Given the description of an element on the screen output the (x, y) to click on. 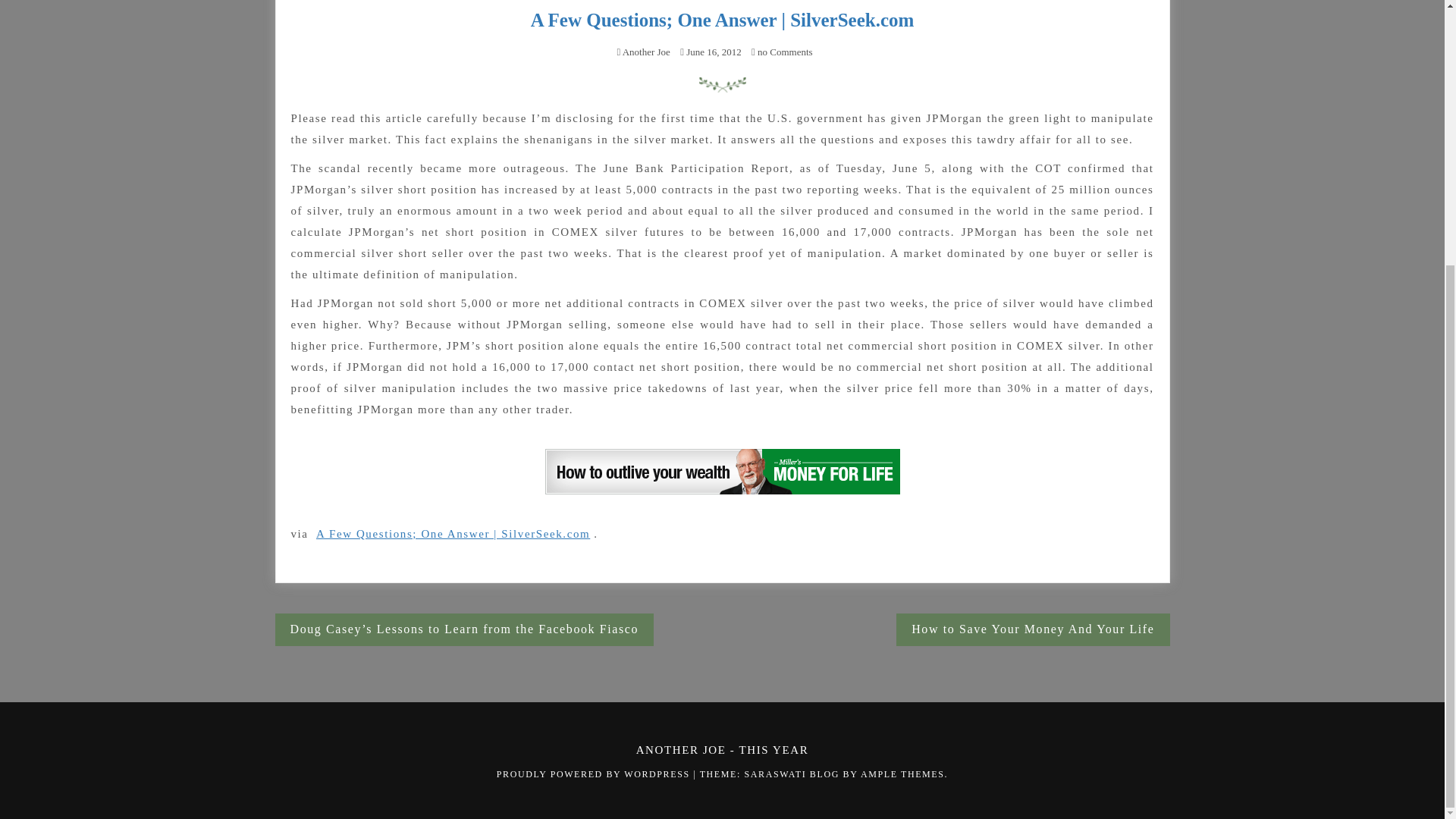
June 16, 2012 (713, 51)
Posts by Another Joe (646, 51)
no Comments (781, 51)
How to Save Your Money And Your Life (1032, 629)
Another Joe (646, 51)
PROUDLY POWERED BY WORDPRESS (594, 774)
AMPLE THEMES (902, 774)
MFL 468x60v2 (721, 471)
